Given the description of an element on the screen output the (x, y) to click on. 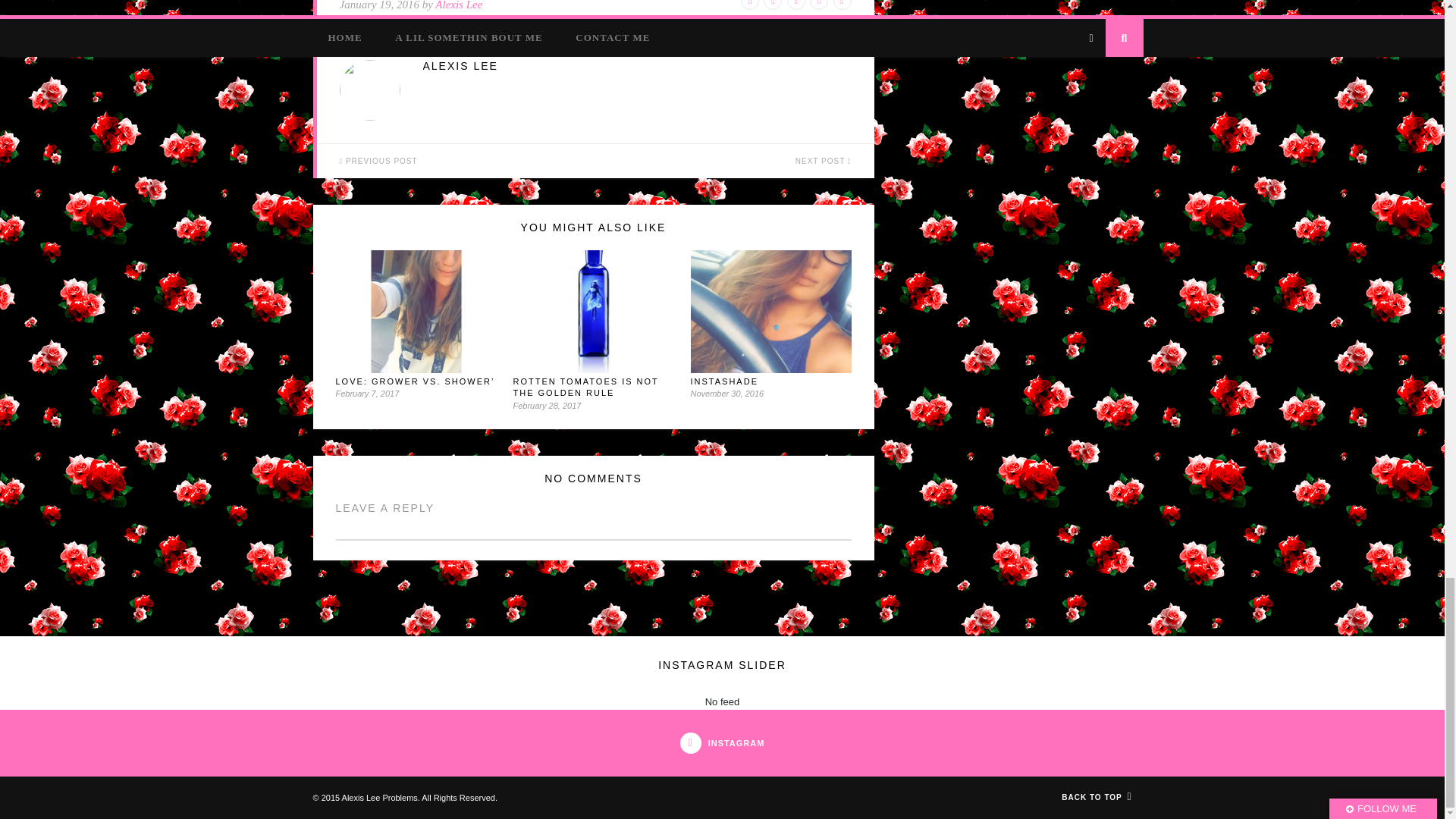
Alexis Lee (458, 5)
ALEXIS LEE (637, 65)
Posts by Alexis Lee (458, 5)
BACK TO TOP (1096, 797)
Posts by Alexis Lee (637, 65)
NEXT POST (735, 161)
INSTAGRAM (722, 742)
INSTASHADE (723, 380)
ROTTEN TOMATOES IS NOT THE GOLDEN RULE (585, 387)
PREVIOUS POST (456, 161)
